Given the description of an element on the screen output the (x, y) to click on. 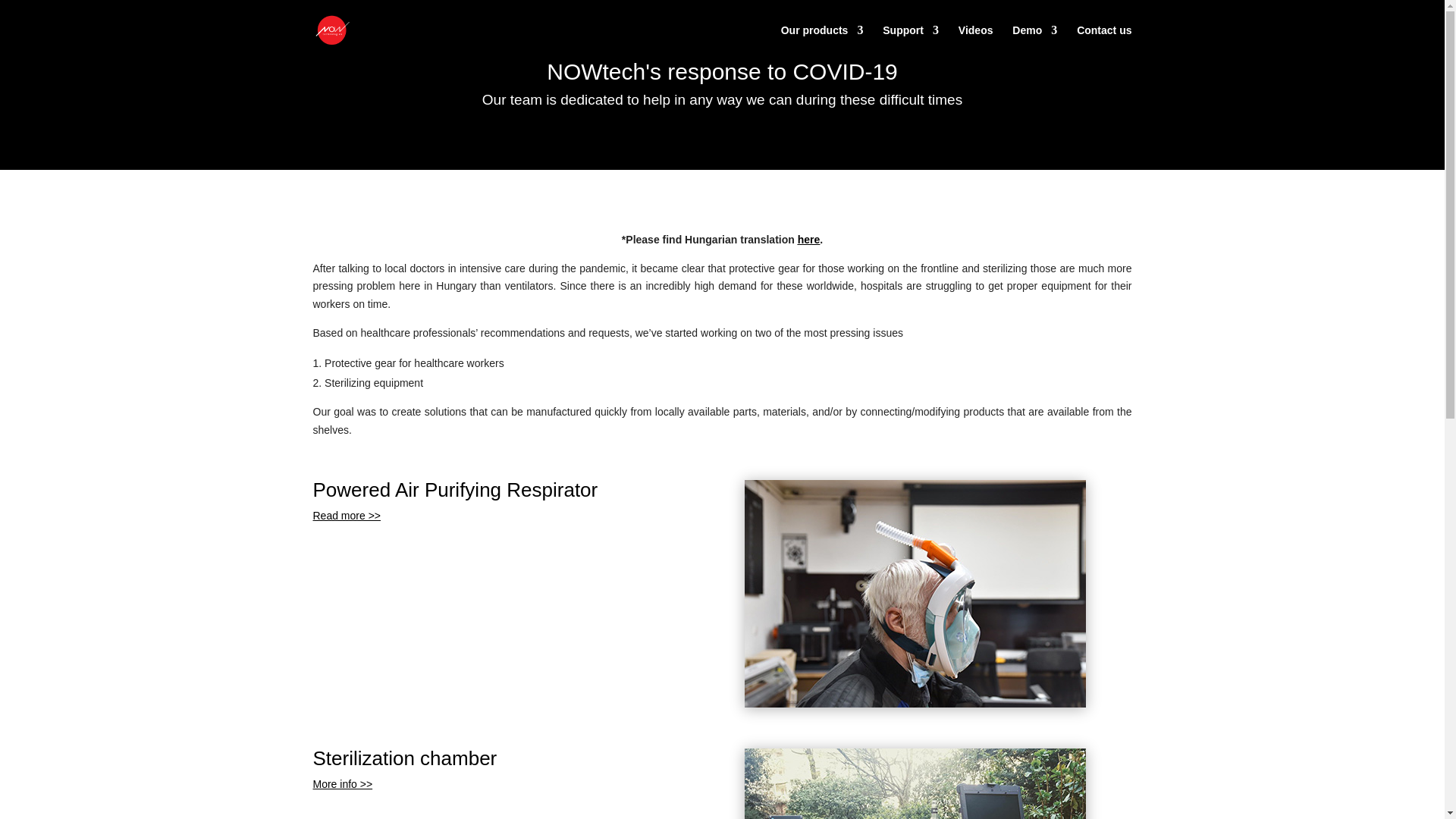
Support (910, 42)
Our products (821, 42)
here (809, 239)
Contact us (1104, 42)
Demo (1034, 42)
Videos (975, 42)
